Given the description of an element on the screen output the (x, y) to click on. 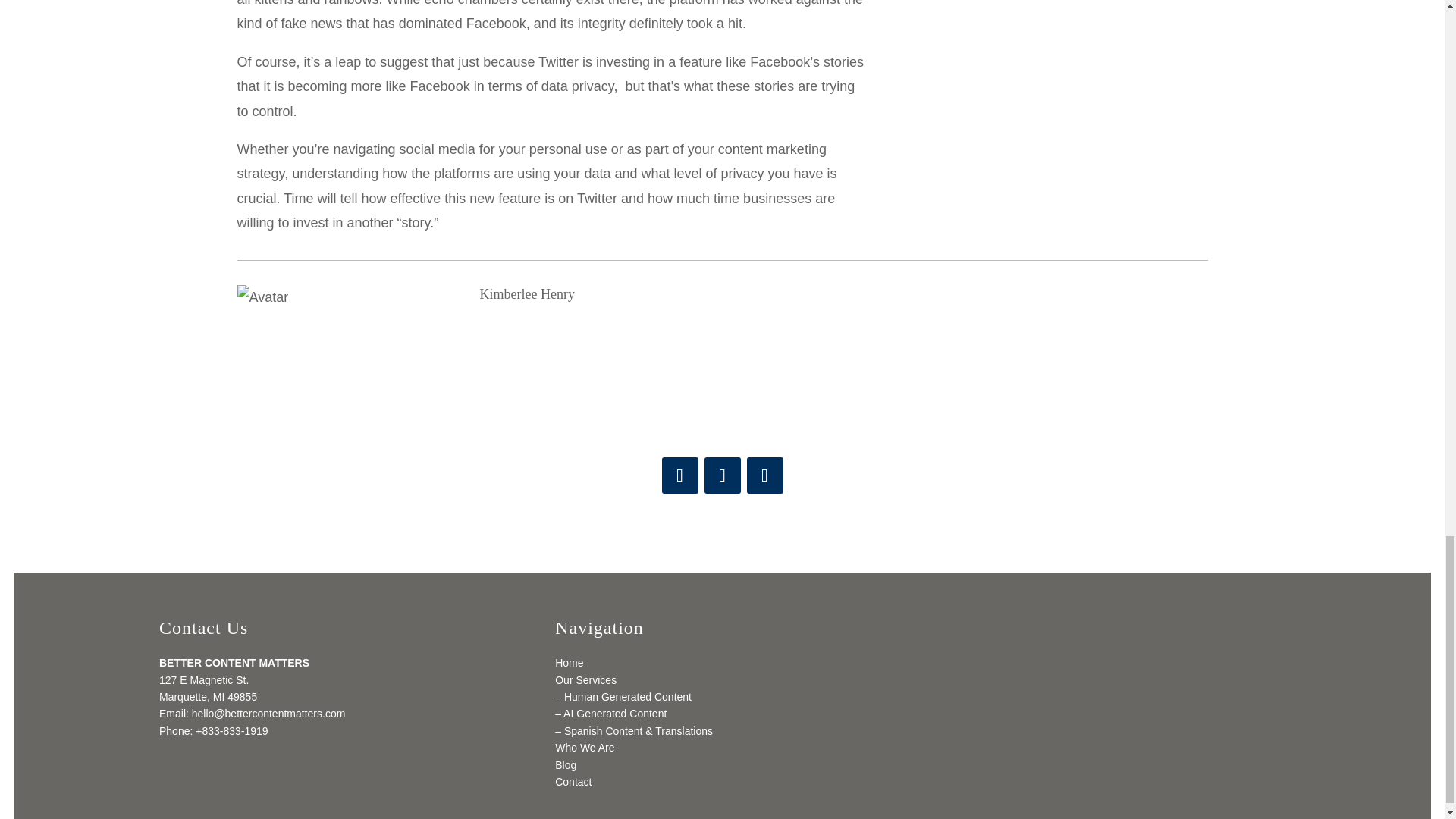
Follow on Facebook (679, 475)
Home (568, 662)
Our Services (584, 680)
Follow on LinkedIn (764, 475)
Follow on X (721, 475)
